Given the description of an element on the screen output the (x, y) to click on. 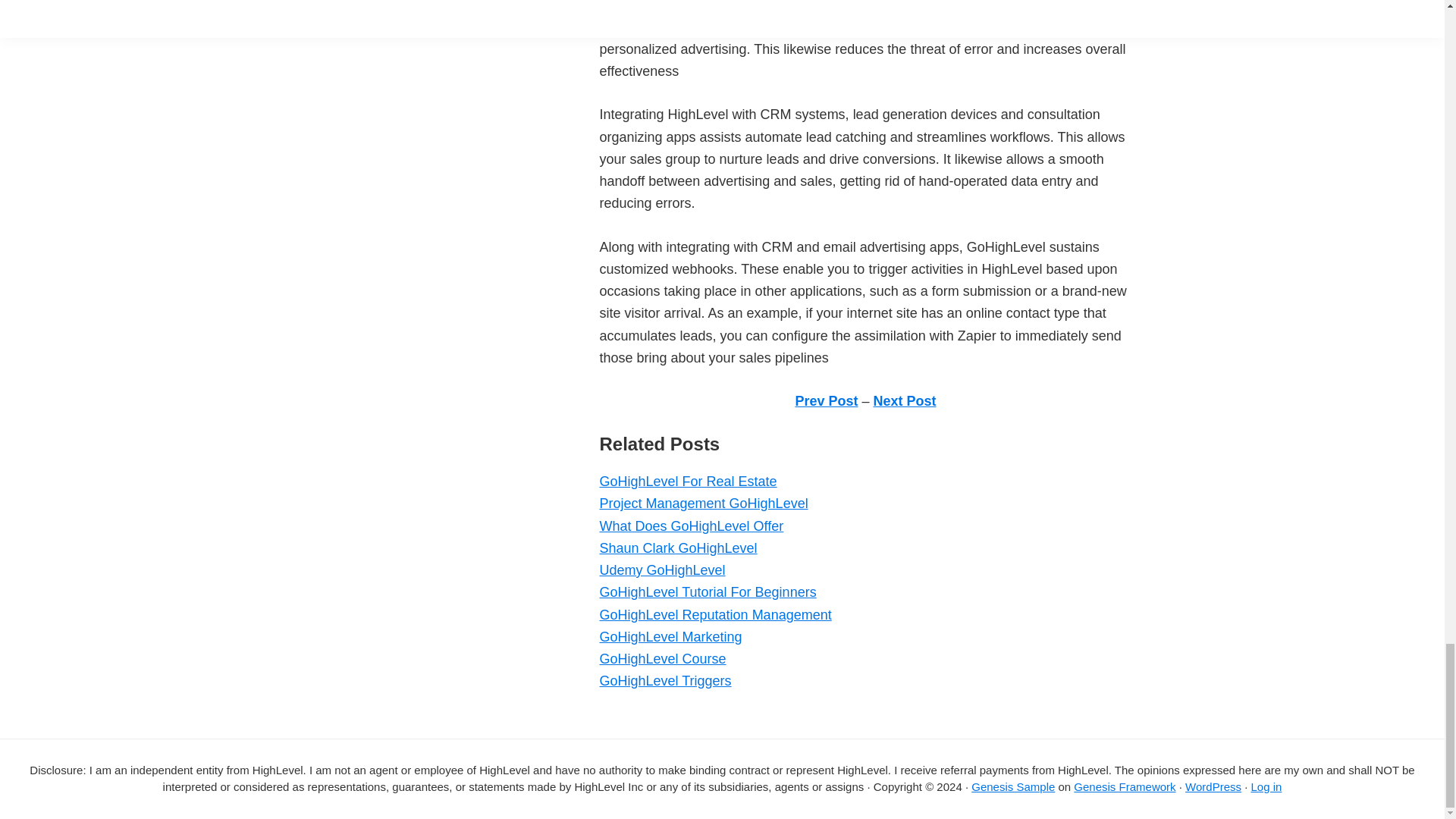
GoHighLevel For Real Estate (687, 481)
Project Management GoHighLevel (703, 503)
GoHighLevel Reputation Management (714, 614)
Prev Post (825, 400)
WordPress (1213, 786)
GoHighLevel Marketing (669, 636)
Genesis Sample (1012, 786)
GoHighLevel Course (661, 658)
GoHighLevel Triggers (664, 680)
Next Post (904, 400)
GoHighLevel Tutorial For Beginners (706, 591)
Shaun Clark GoHighLevel (677, 548)
GoHighLevel Reputation Management (714, 614)
Genesis Framework (1124, 786)
Project Management GoHighLevel (703, 503)
